Given the description of an element on the screen output the (x, y) to click on. 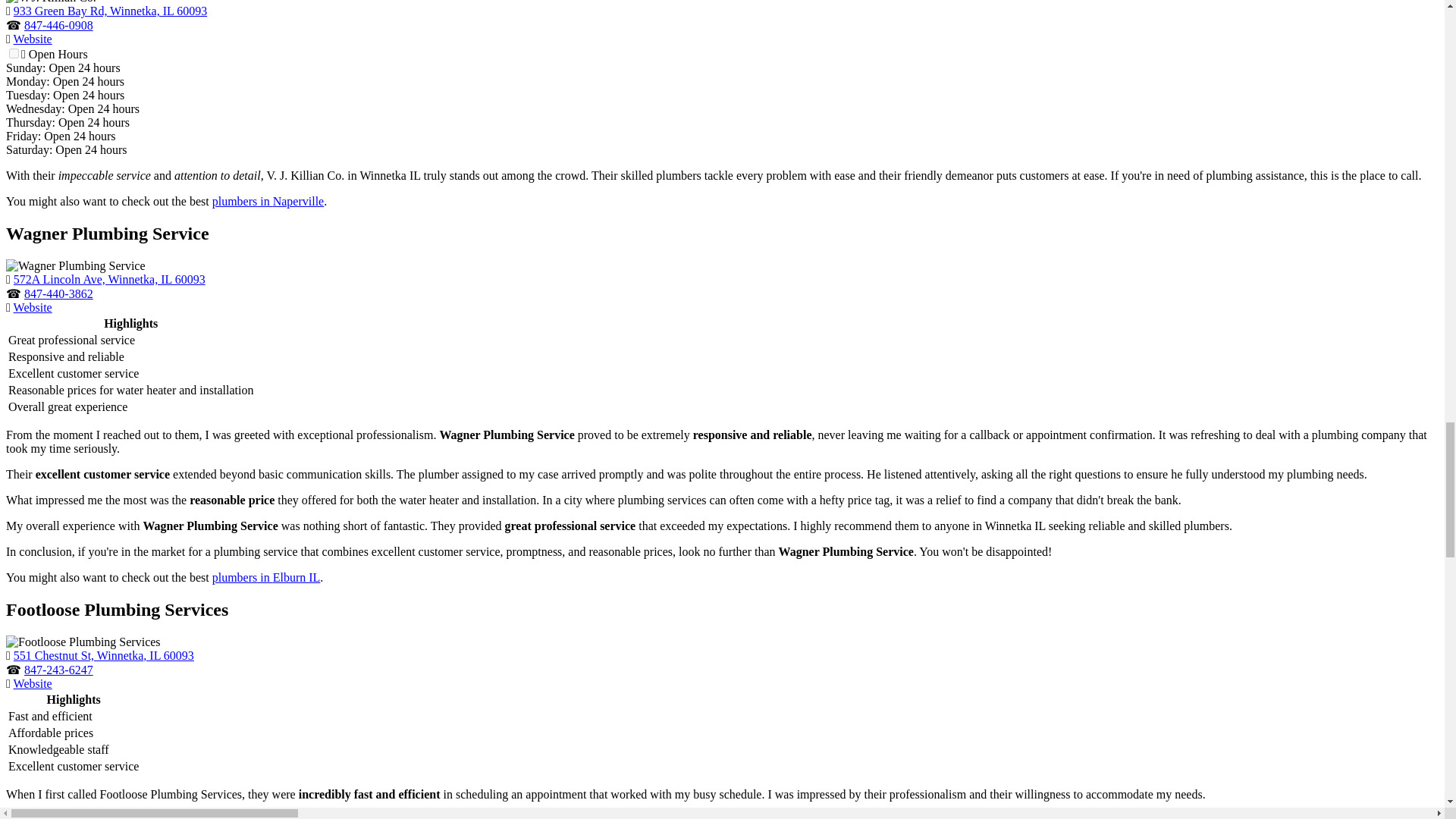
plumbers in Naperville (268, 201)
572A Lincoln Ave, Winnetka, IL 60093 (109, 278)
on (13, 53)
933 Green Bay Rd, Winnetka, IL 60093 (109, 10)
Website (32, 38)
847-446-0908 (58, 24)
